Given the description of an element on the screen output the (x, y) to click on. 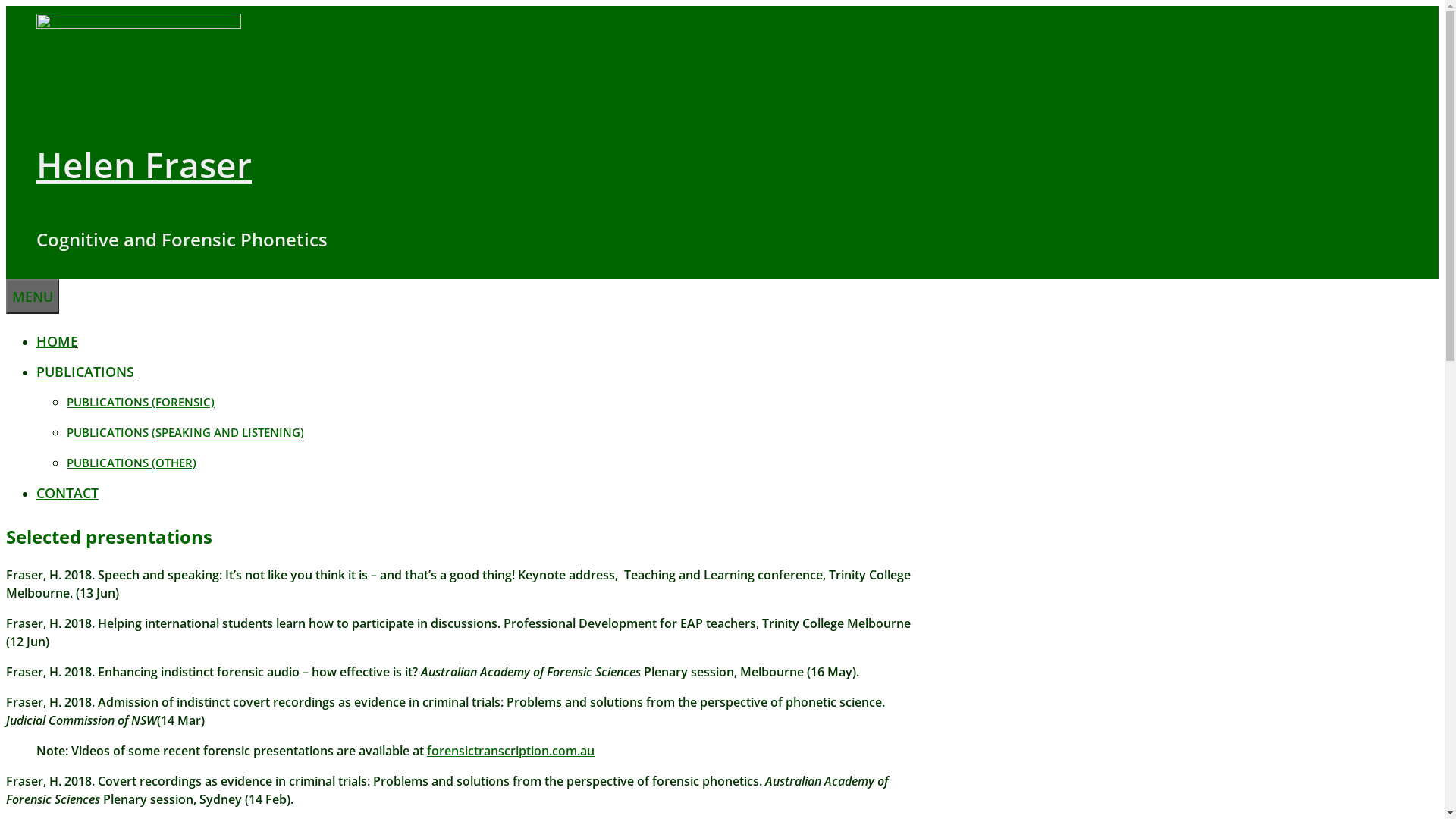
PUBLICATIONS Element type: text (85, 371)
PUBLICATIONS (OTHER) Element type: text (131, 462)
PUBLICATIONS (SPEAKING AND LISTENING) Element type: text (185, 431)
CONTACT Element type: text (67, 492)
MENU Element type: text (32, 296)
Skip to content Element type: text (5, 5)
Helen Fraser Element type: text (143, 164)
PUBLICATIONS (FORENSIC) Element type: text (140, 401)
HOME Element type: text (57, 341)
forensictranscription.com.au Element type: text (510, 750)
